Given the description of an element on the screen output the (x, y) to click on. 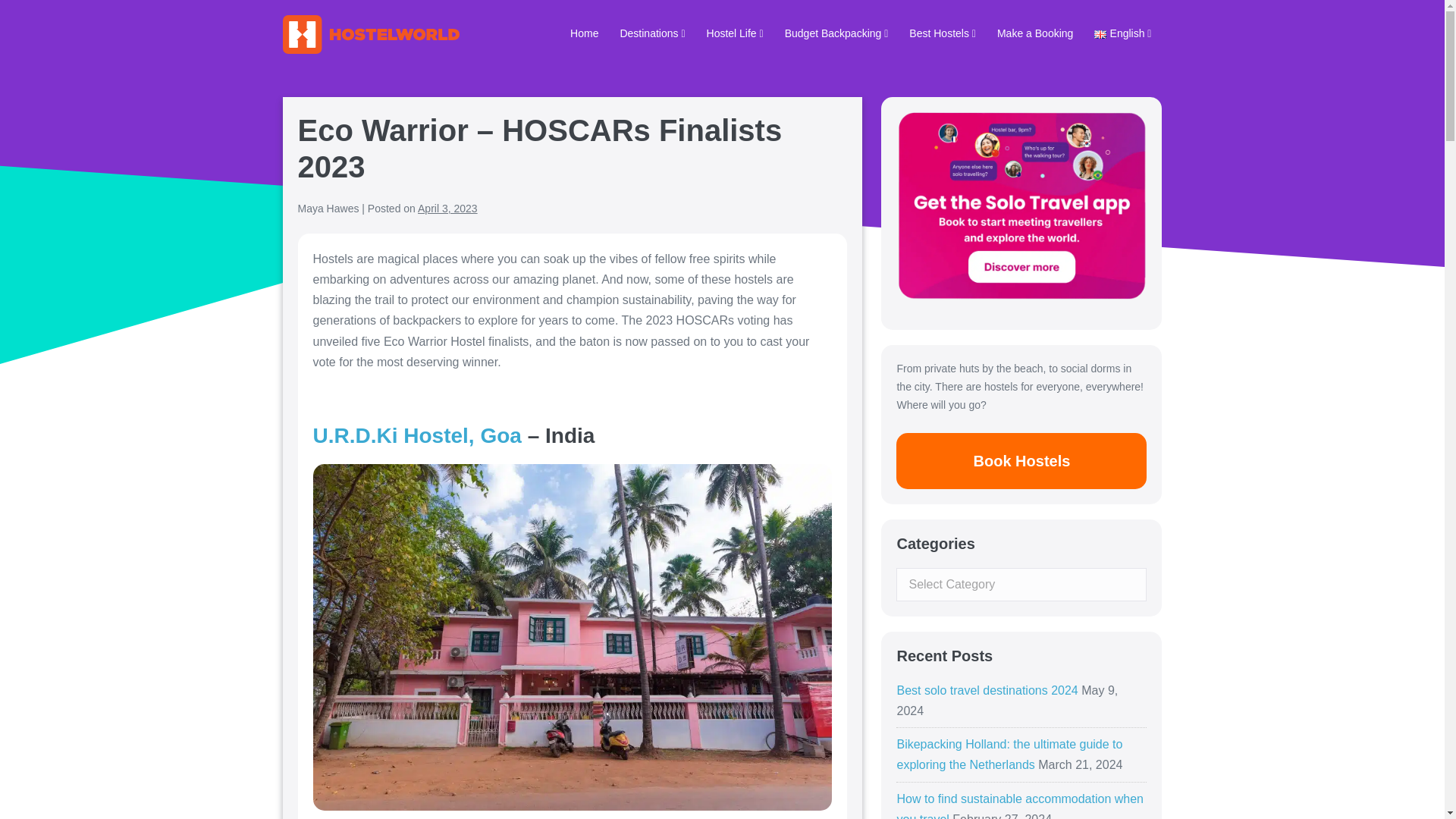
Travel Advice Blog (583, 34)
Solo Travel Destinations (651, 34)
Hostelworld Travel Blog (370, 34)
